Given the description of an element on the screen output the (x, y) to click on. 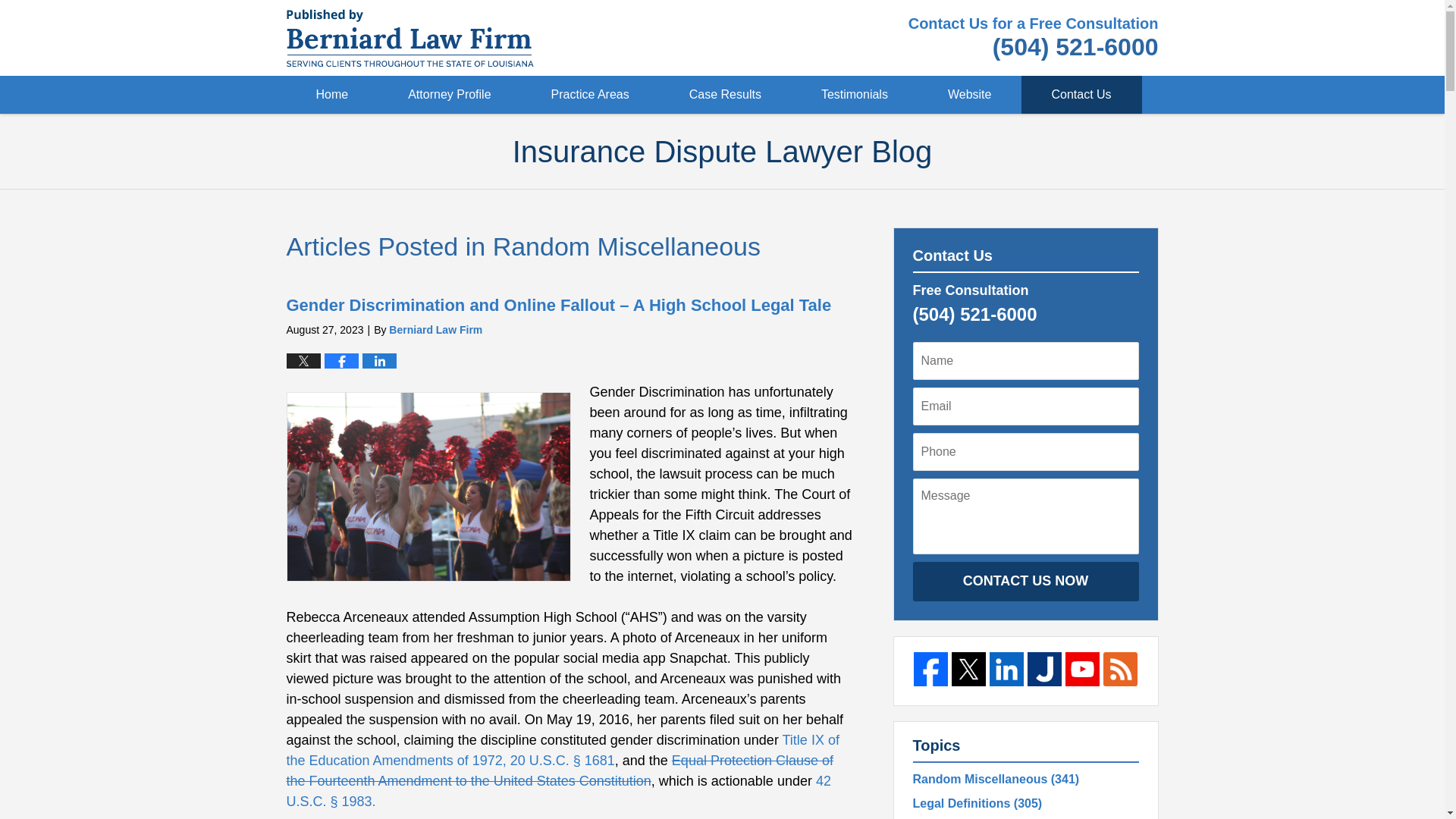
Insurance Dispute Lawyer Blog (410, 37)
Case Results (725, 94)
Contact Us (1081, 94)
Home (332, 94)
Attorney Profile (449, 94)
Practice Areas (590, 94)
Testimonials (855, 94)
Berniard Law Firm (434, 329)
Website (970, 94)
